Given the description of an element on the screen output the (x, y) to click on. 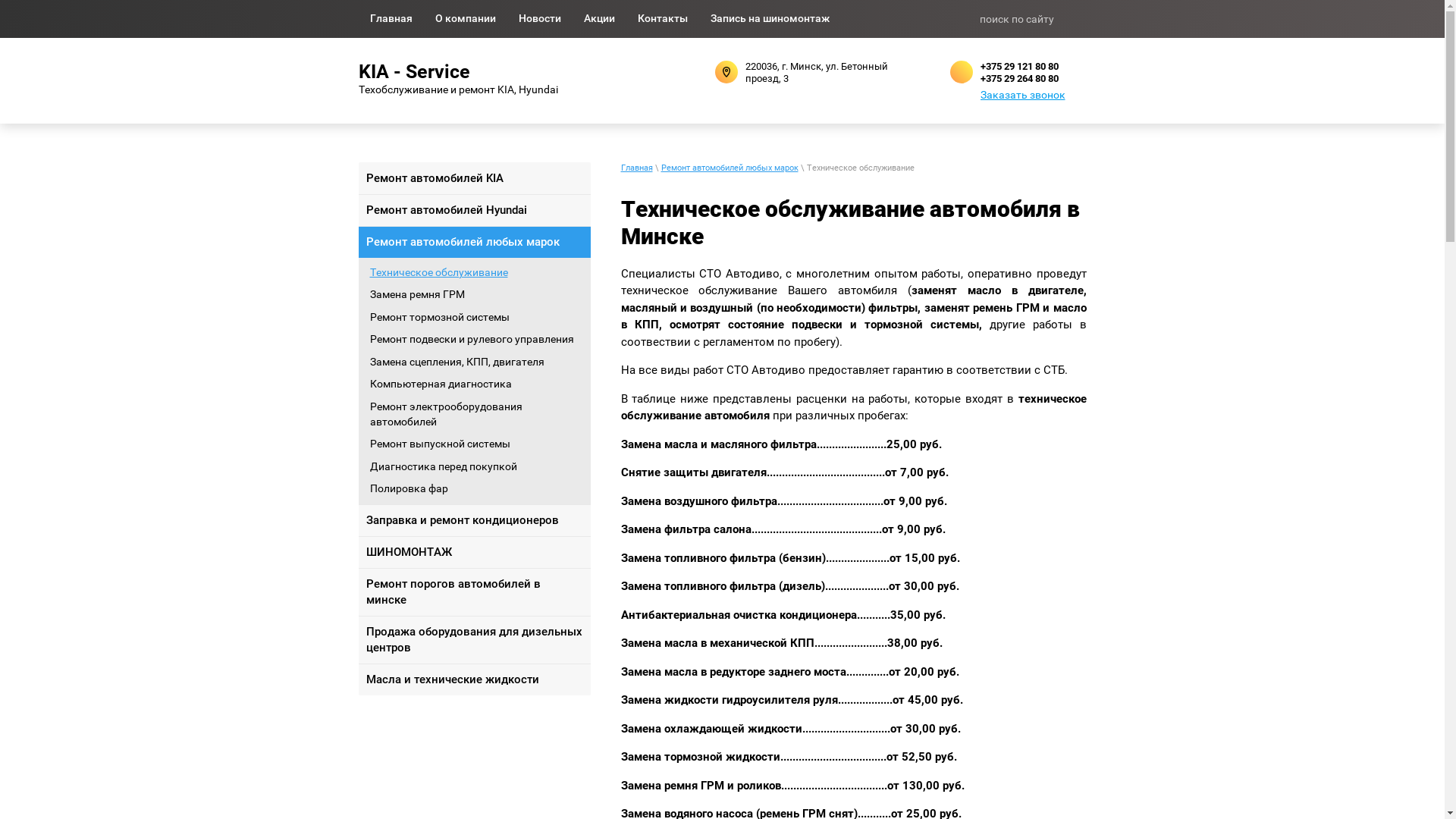
+375 29 121 80 80 Element type: text (1018, 66)
+375 29 264 80 80 Element type: text (1018, 78)
KIA - Service Element type: text (509, 71)
